Given the description of an element on the screen output the (x, y) to click on. 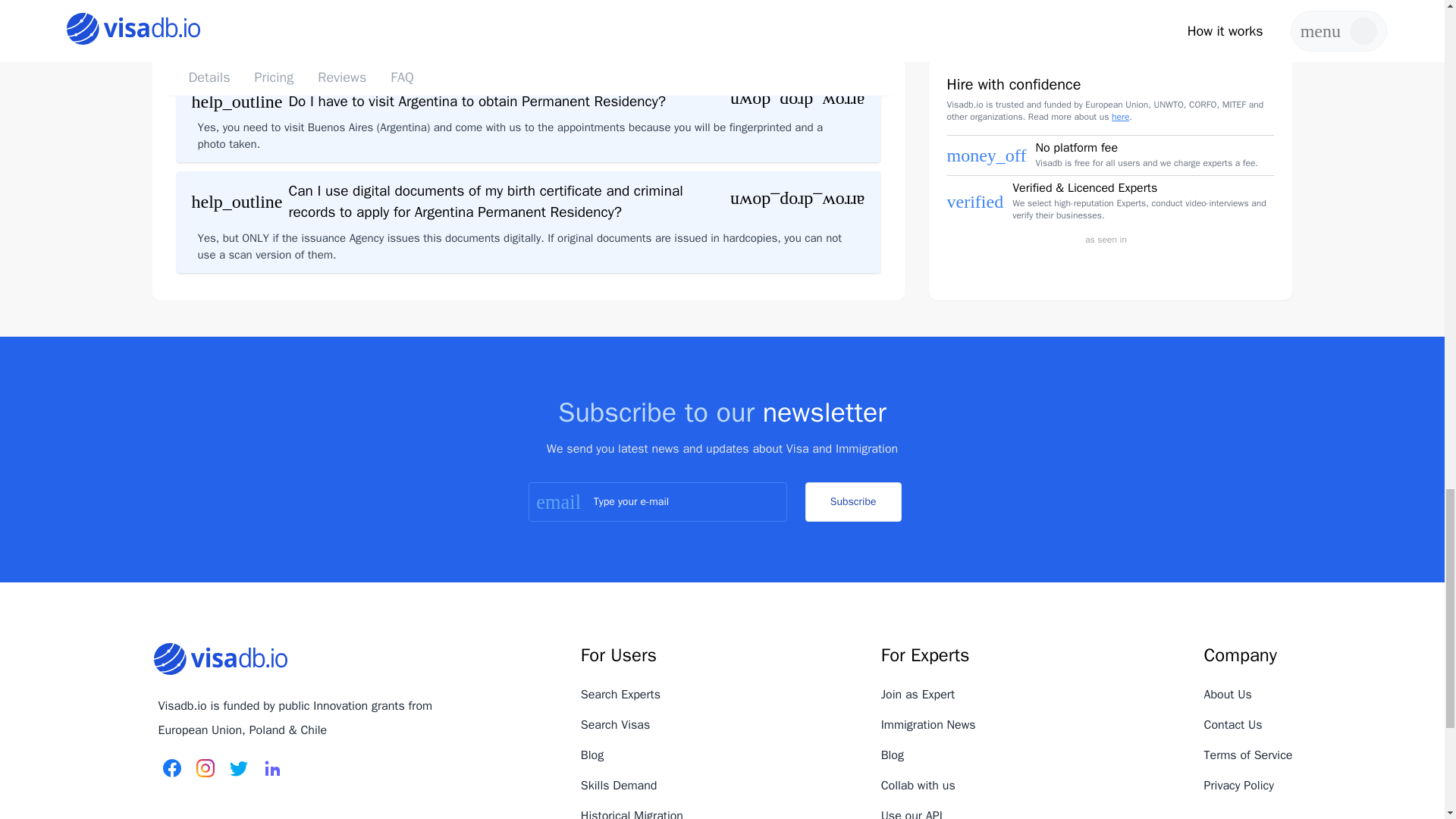
Blog (592, 754)
Terms of Service (1248, 754)
Blog (892, 754)
Visadb Logo (219, 658)
Search Visas (614, 724)
Skills Demand (619, 785)
About Us (1228, 694)
Historical Migration (631, 813)
Collab with us (917, 785)
Search Experts (620, 694)
Contact Us (1233, 724)
Join as Expert (917, 694)
Use our API (911, 813)
Immigration News (927, 724)
Subscribe (853, 501)
